Given the description of an element on the screen output the (x, y) to click on. 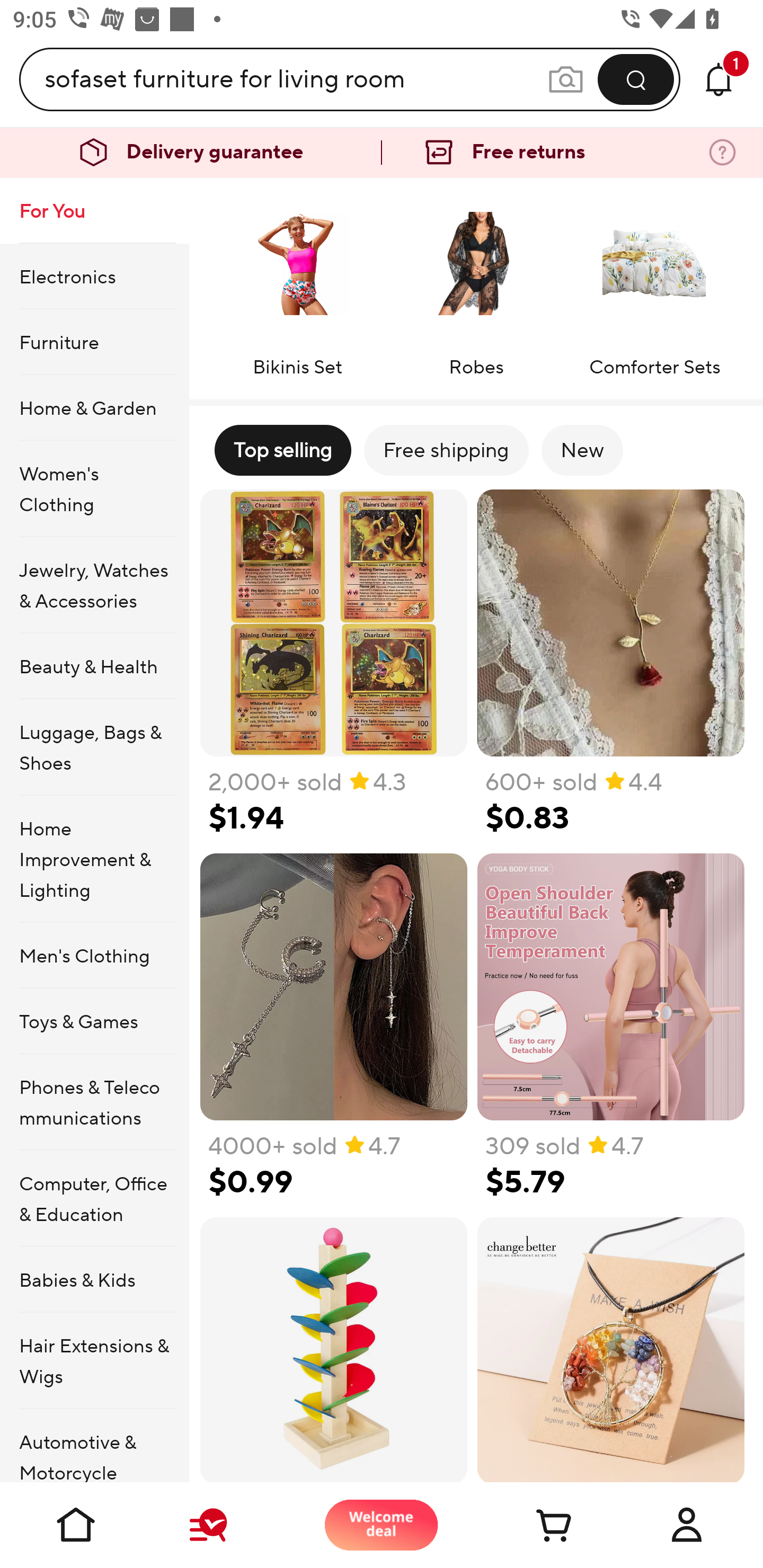
sofaset furniture for living room Search query (295, 79)
Messages 1 (718, 79)
Delivery guarantee Free returns (381, 152)
For You (94, 210)
Bikinis Set (296, 281)
Robes (475, 281)
Comforter Sets (654, 281)
Electronics (94, 275)
Furniture (94, 341)
Home & Garden (94, 407)
Top selling (282, 449)
Free shipping (445, 449)
New (582, 449)
Women's Clothing (94, 488)
Jewelry, Watches & Accessories (94, 585)
Beauty & Health (94, 666)
Luggage, Bags & Shoes (94, 746)
Home Improvement & Lighting (94, 858)
Men's Clothing (94, 955)
Toys & Games (94, 1020)
Phones & Telecommunications (94, 1101)
Computer, Office & Education (94, 1198)
Babies & Kids (94, 1279)
Hair Extensions & Wigs (94, 1360)
Automotive & Motorcycle (94, 1445)
Home (76, 1524)
Cart (533, 1524)
Account (686, 1524)
